Given the description of an element on the screen output the (x, y) to click on. 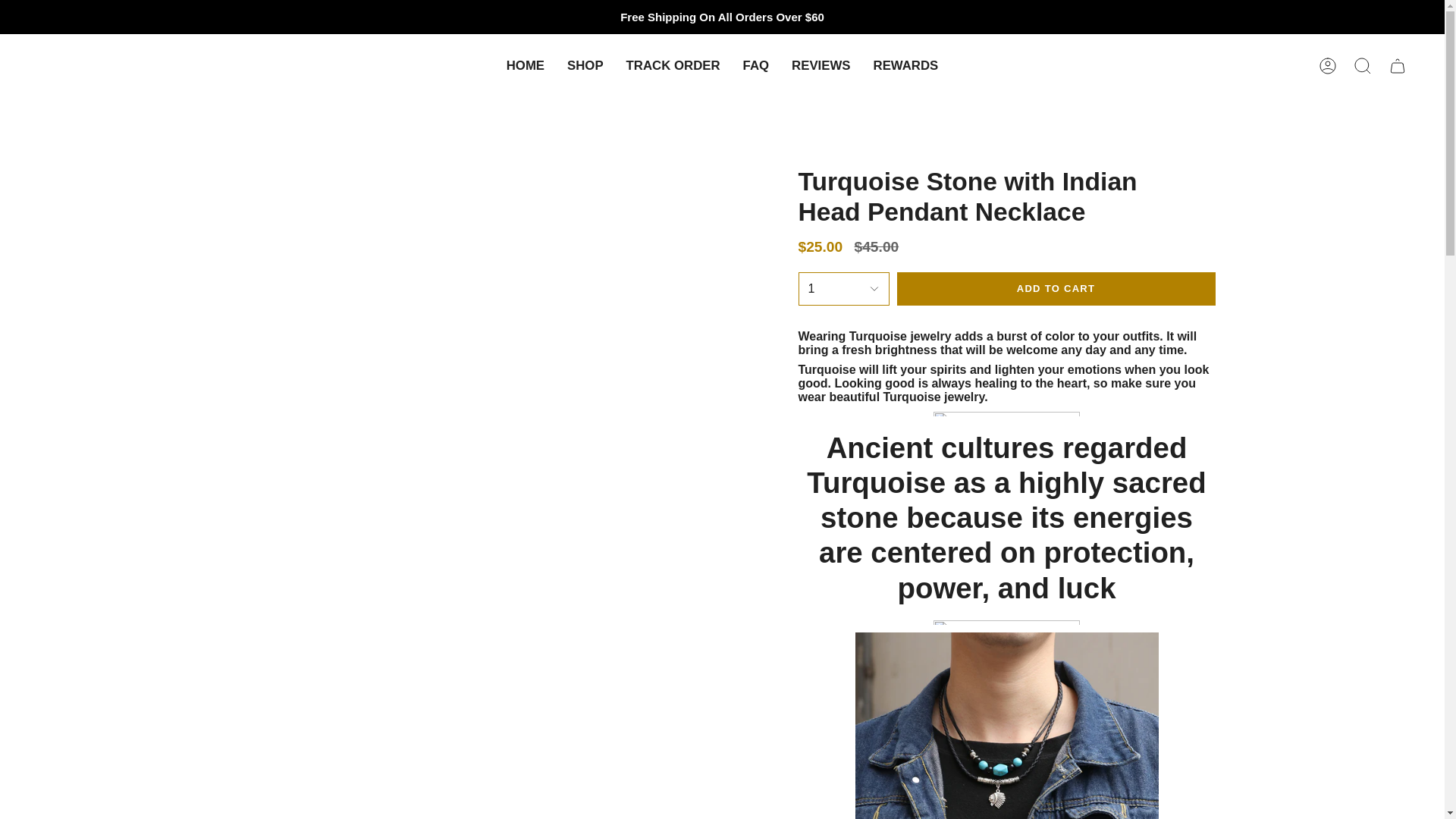
TRACK ORDER (673, 65)
HOME (525, 65)
REWARDS (905, 65)
ADD TO CART (1055, 288)
SHOP (585, 65)
REVIEWS (820, 65)
1 (842, 288)
